Given the description of an element on the screen output the (x, y) to click on. 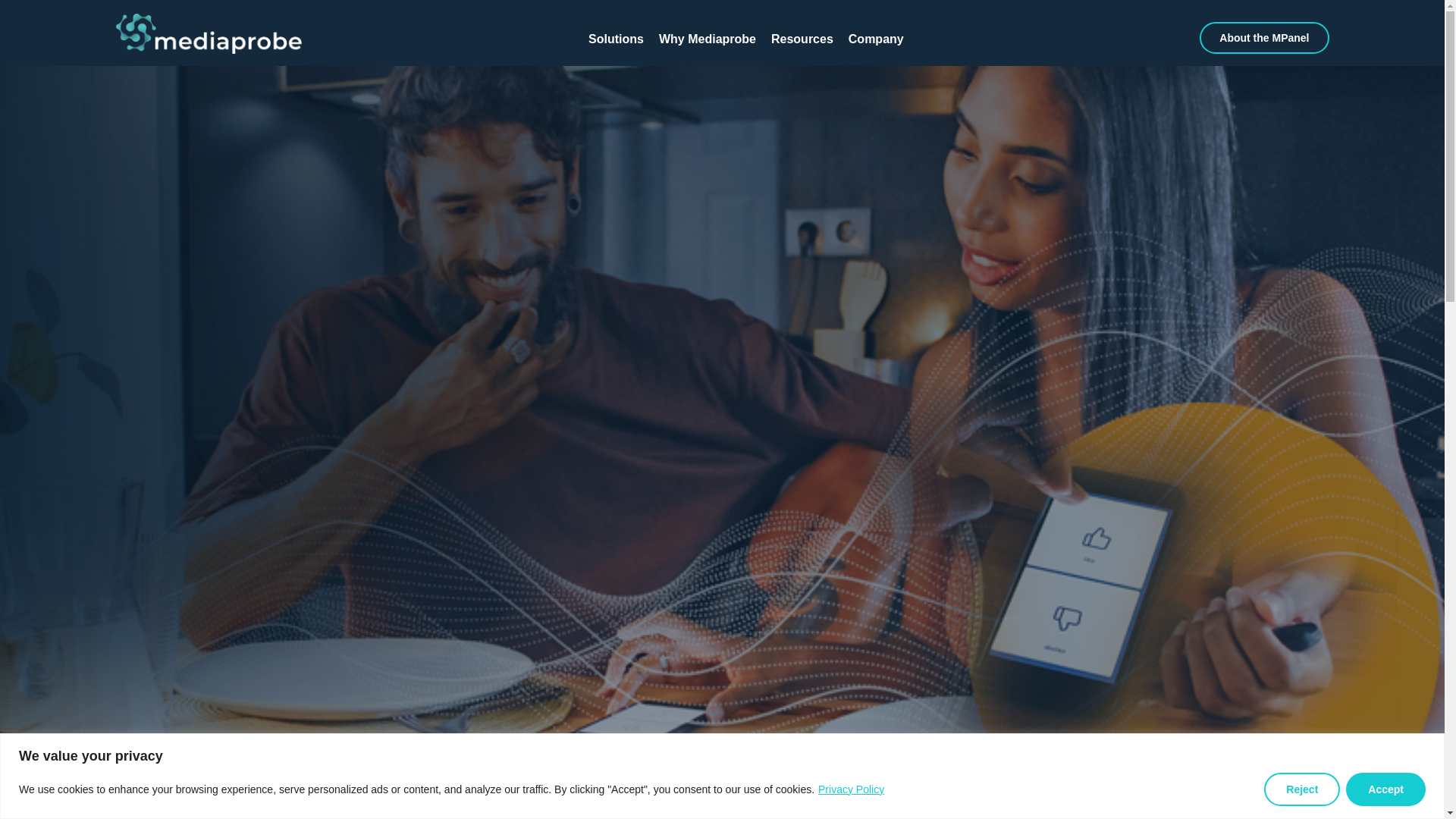
Accept (1385, 788)
Why Mediaprobe (706, 39)
AD PERFOMANCE (721, 811)
About the MPanel (1205, 38)
Company (876, 39)
Resources (745, 39)
Privacy Policy (801, 39)
Reject (850, 789)
Solutions (1301, 788)
